Given the description of an element on the screen output the (x, y) to click on. 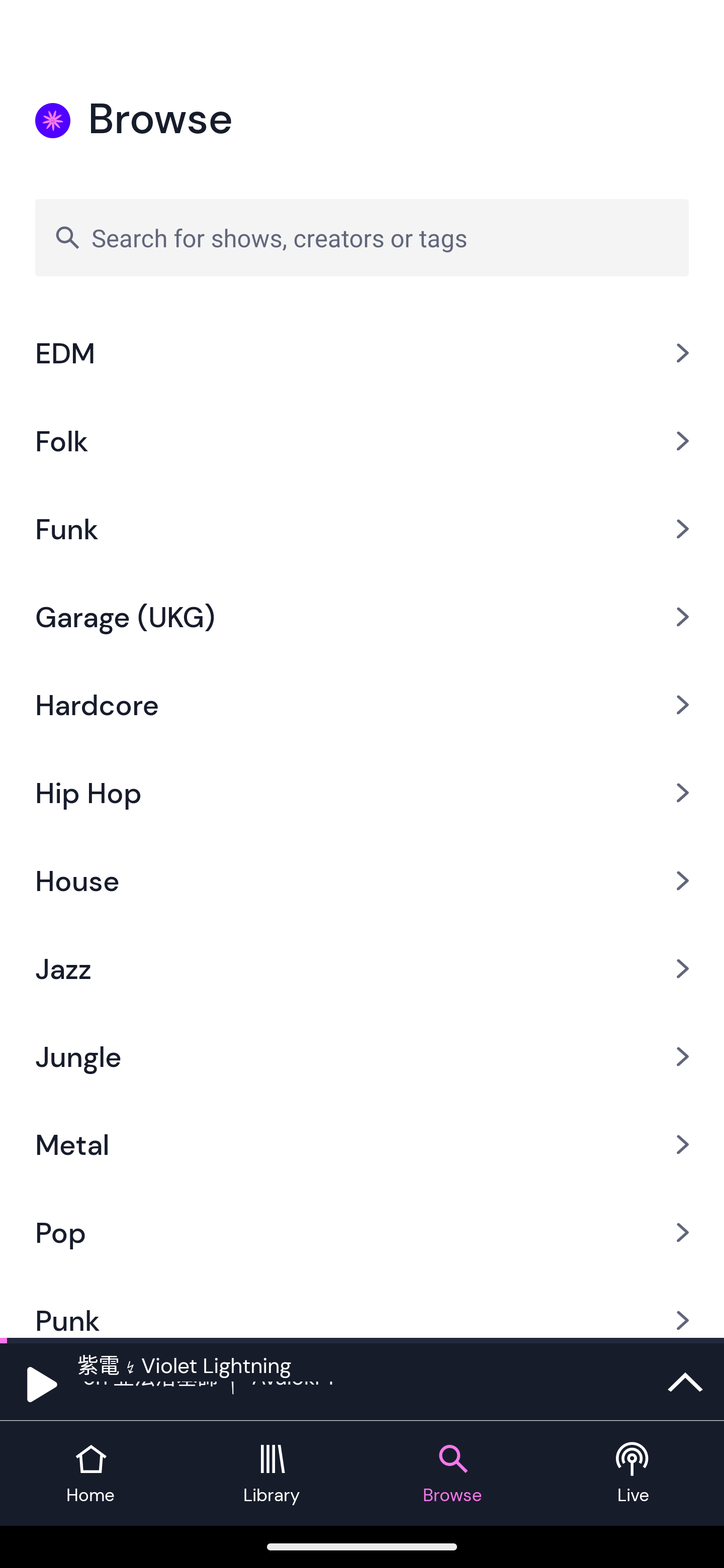
Search for shows, creators or tags (361, 237)
EDM (361, 352)
Folk (361, 440)
Funk (361, 528)
Garage (UKG) (361, 616)
Hardcore (361, 704)
Hip Hop (361, 793)
House (361, 881)
Jazz (361, 968)
Jungle (361, 1056)
Metal (361, 1144)
Pop (361, 1232)
Punk (361, 1306)
Home tab Home (90, 1473)
Library tab Library (271, 1473)
Browse tab Browse (452, 1473)
Live tab Live (633, 1473)
